Given the description of an element on the screen output the (x, y) to click on. 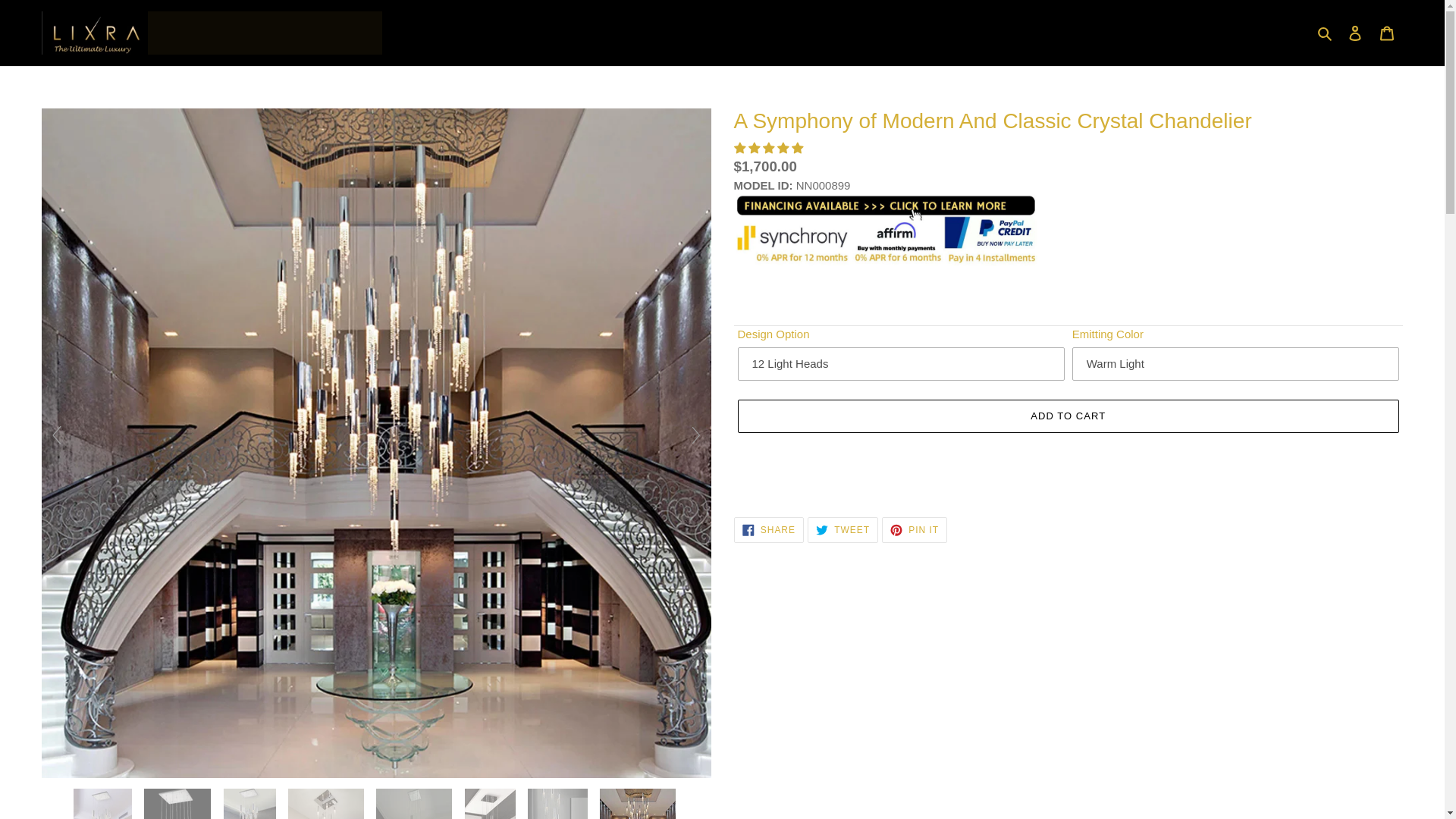
Search (1326, 32)
Cart (1387, 32)
Log in (1355, 32)
